Given the description of an element on the screen output the (x, y) to click on. 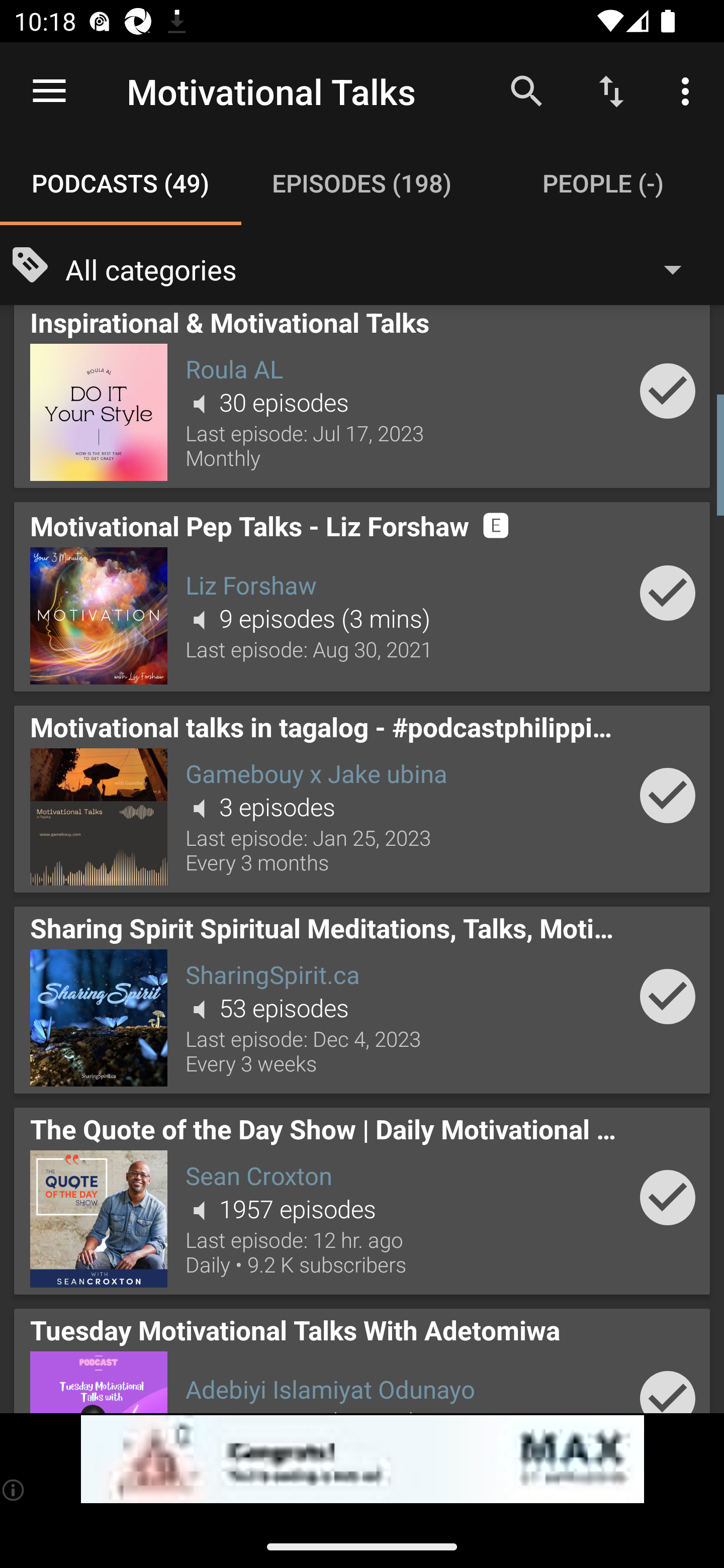
Open navigation sidebar (49, 91)
Search (526, 90)
Sort (611, 90)
More options (688, 90)
Episodes (198) EPISODES (198) (361, 183)
People (-) PEOPLE (-) (603, 183)
All categories (383, 268)
Add (667, 390)
Add (667, 592)
Add (667, 794)
Add (667, 996)
Add (667, 1197)
Add (667, 1384)
app-monetization (362, 1459)
(i) (14, 1489)
